Given the description of an element on the screen output the (x, y) to click on. 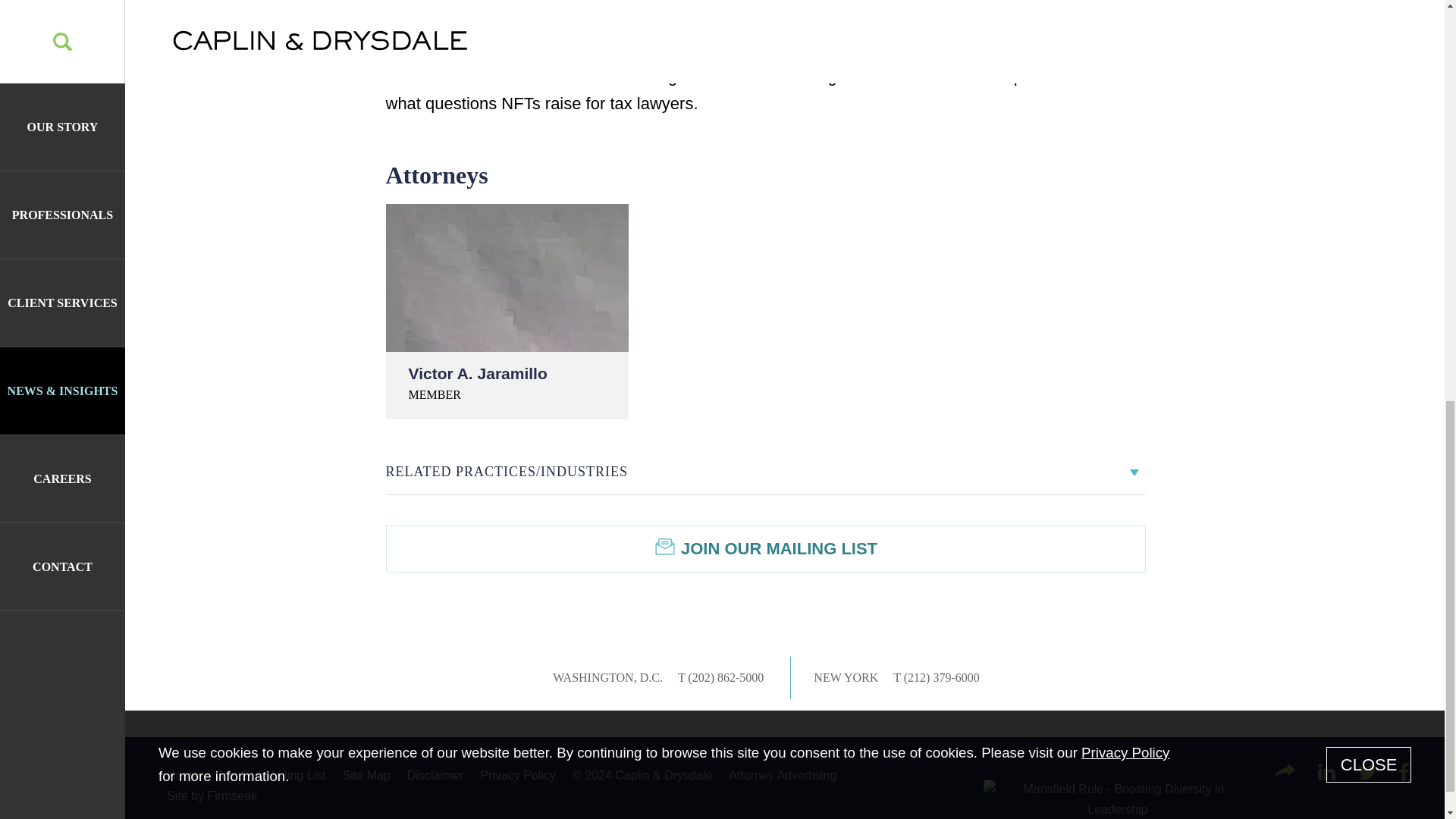
Share (1285, 770)
twitter Icon (1367, 771)
linkedin Icon (1326, 771)
